Given the description of an element on the screen output the (x, y) to click on. 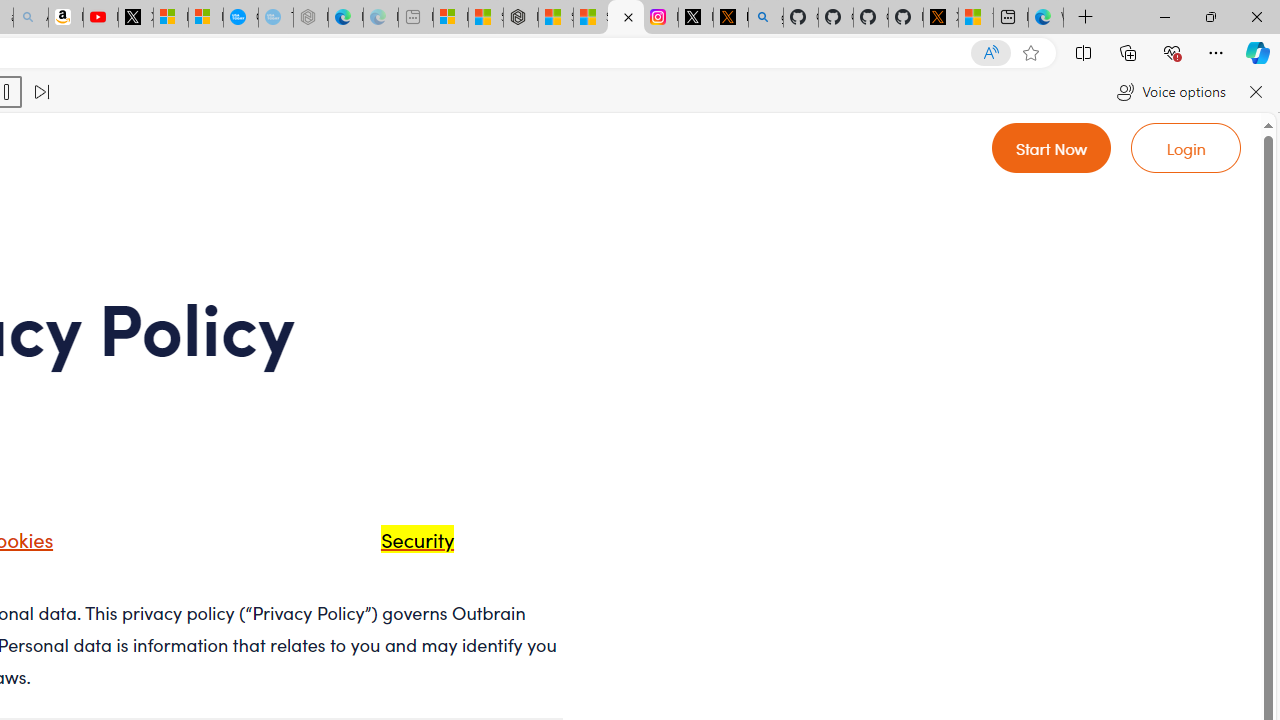
X Privacy Policy (940, 17)
New tab - Sleeping (415, 17)
Nordace - Duffels (520, 17)
Log in to X / X (695, 17)
X (136, 17)
Amazon Echo Dot PNG - Search Images - Sleeping (31, 17)
